Given the description of an element on the screen output the (x, y) to click on. 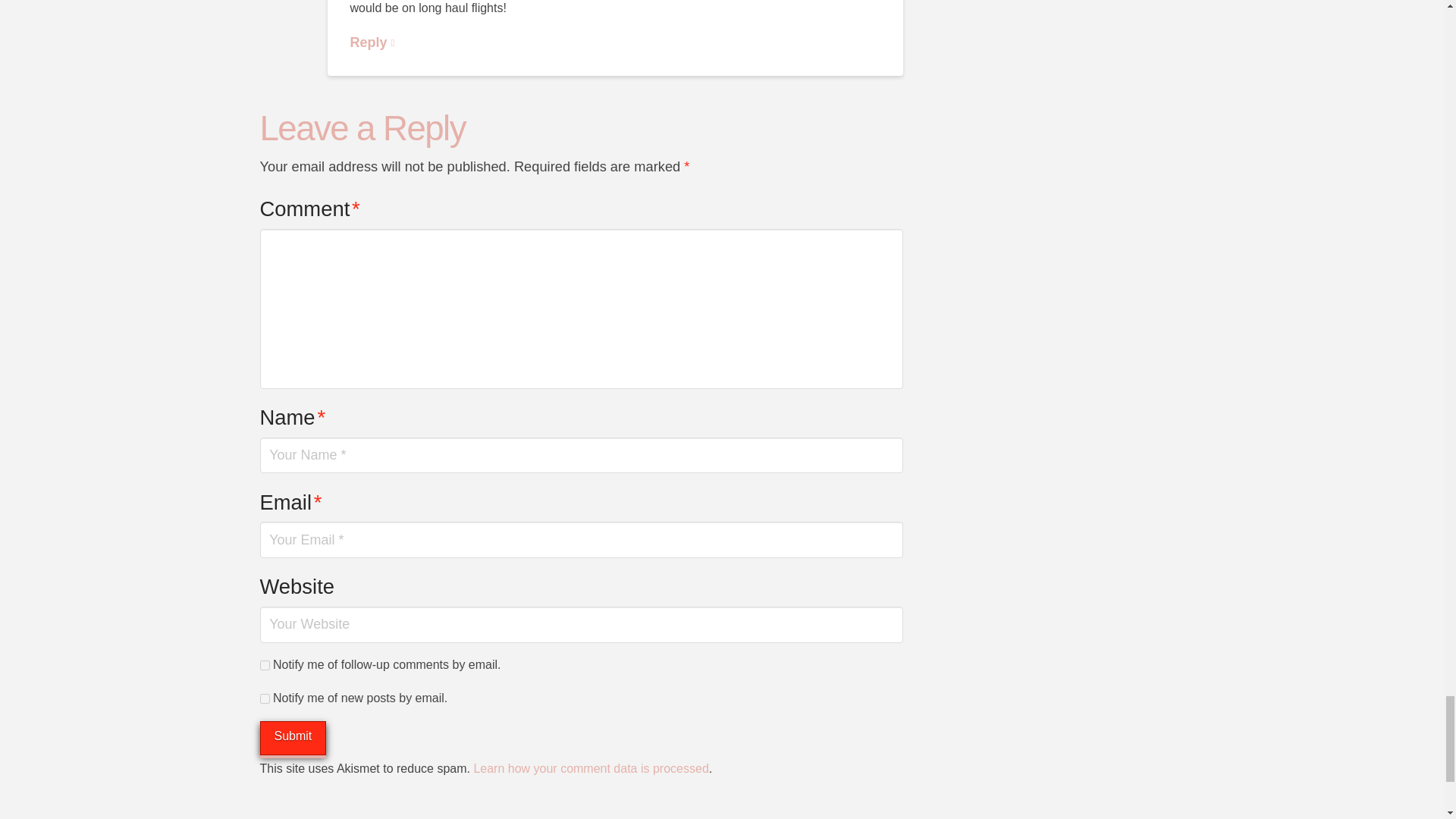
subscribe (264, 665)
subscribe (264, 698)
Submit (292, 738)
